Given the description of an element on the screen output the (x, y) to click on. 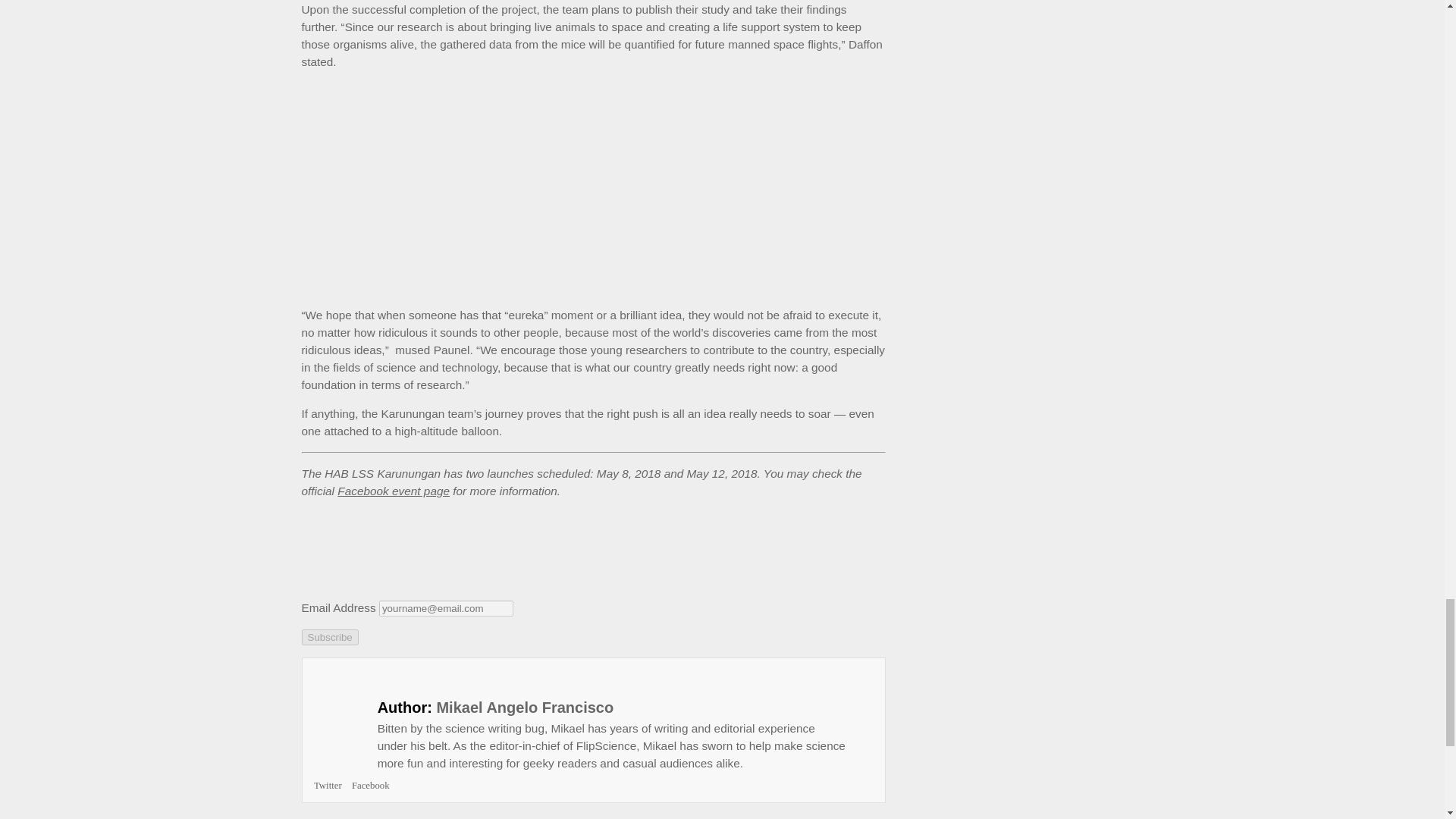
Twitter (328, 785)
Subscribe (329, 637)
Facebook event page (393, 490)
Facebook (371, 785)
Mikael Angelo Francisco (523, 707)
Subscribe (329, 637)
